Given the description of an element on the screen output the (x, y) to click on. 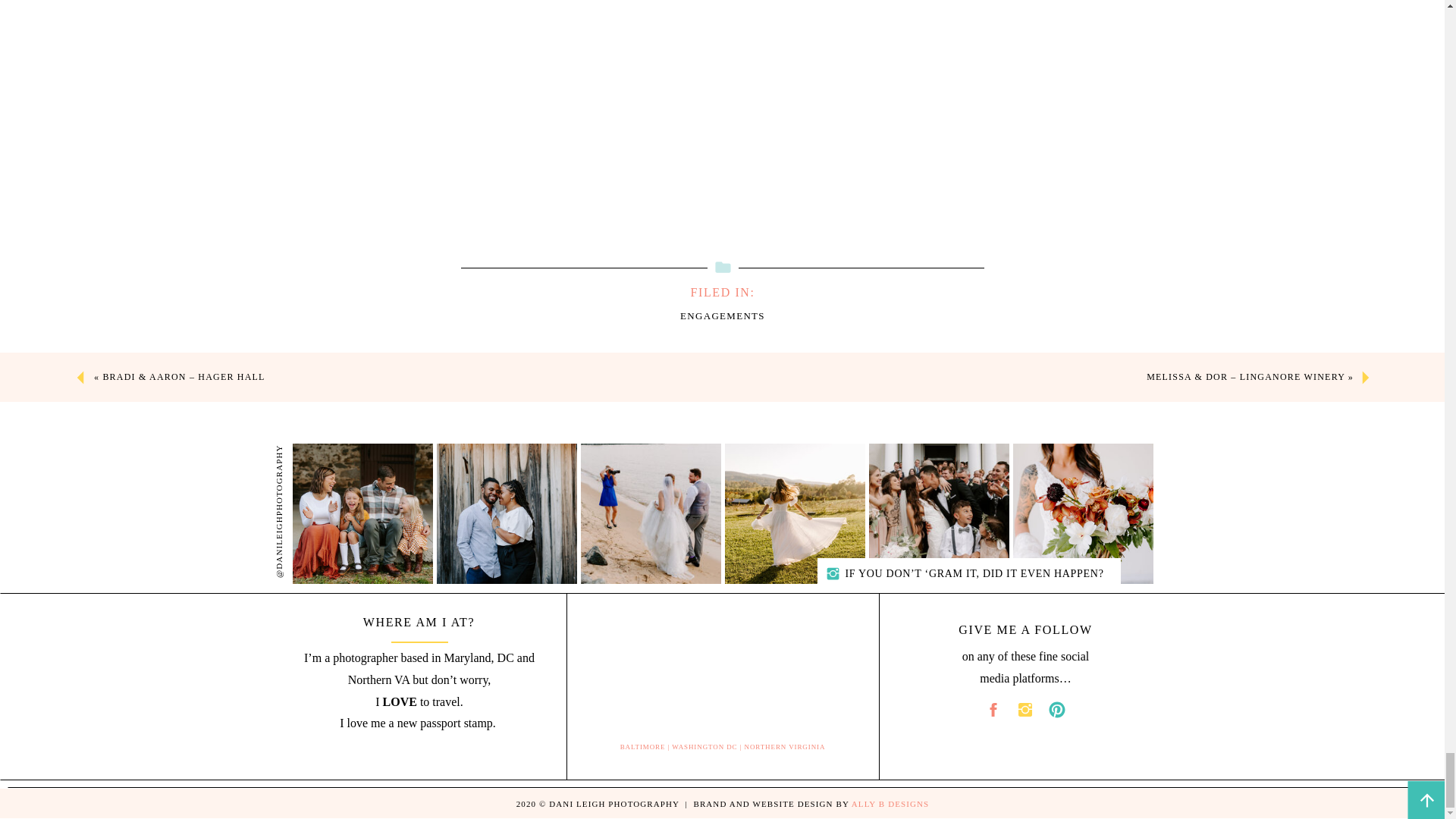
ALLY B DESIGNS (890, 803)
ENGAGEMENTS (722, 315)
